Given the description of an element on the screen output the (x, y) to click on. 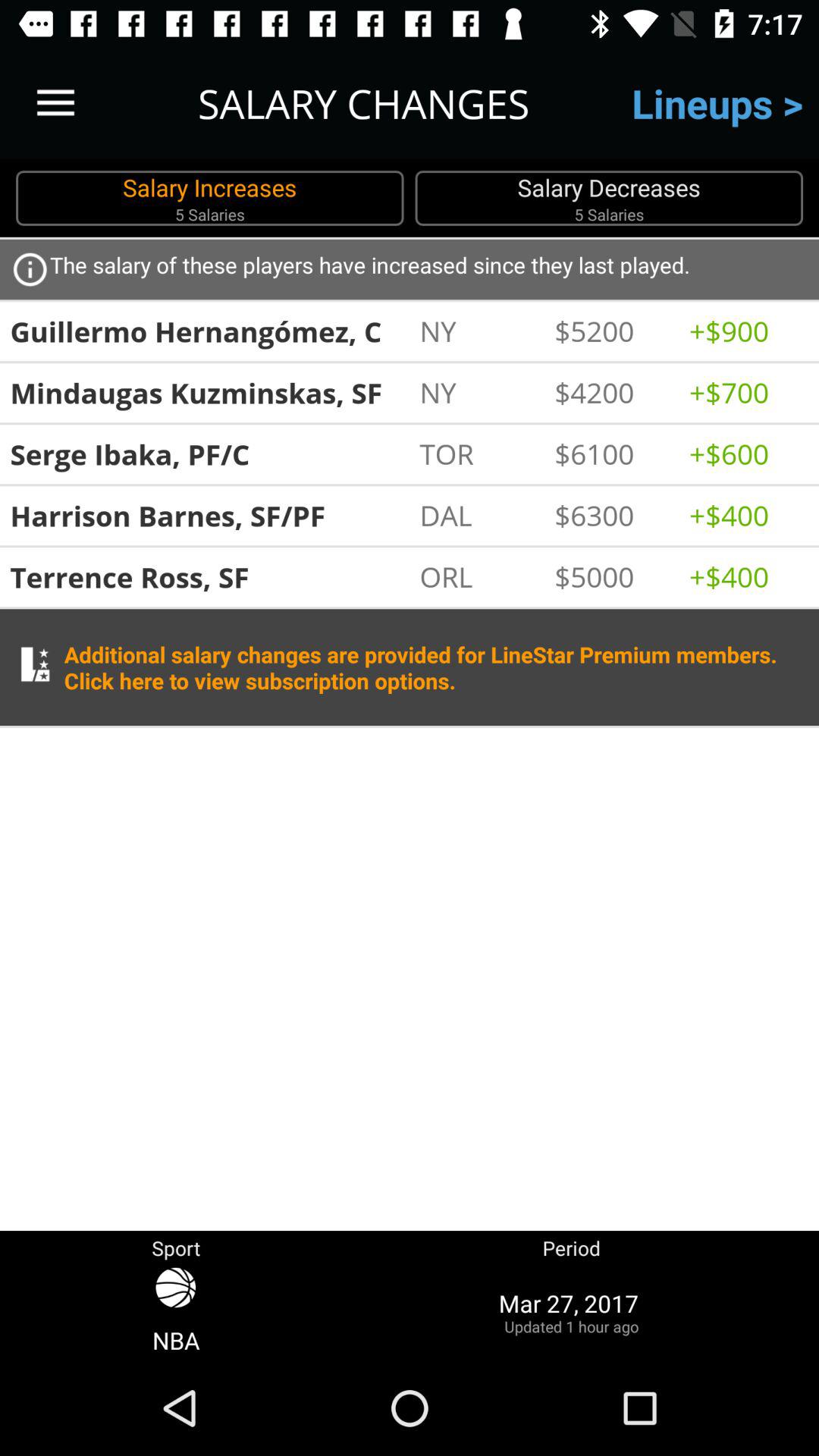
flip to tor item (478, 453)
